Given the description of an element on the screen output the (x, y) to click on. 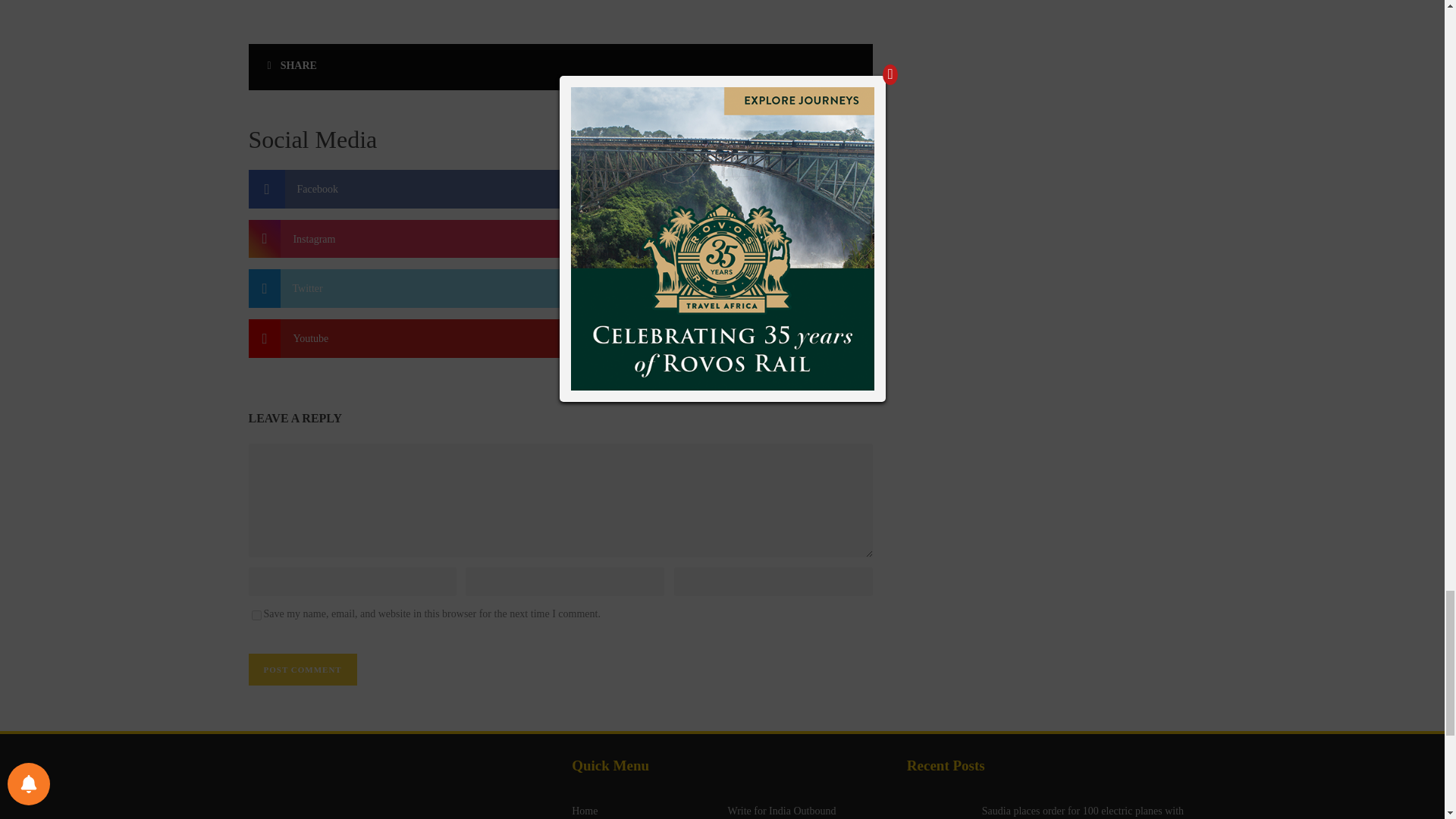
yes (256, 614)
Post Comment (302, 669)
